Given the description of an element on the screen output the (x, y) to click on. 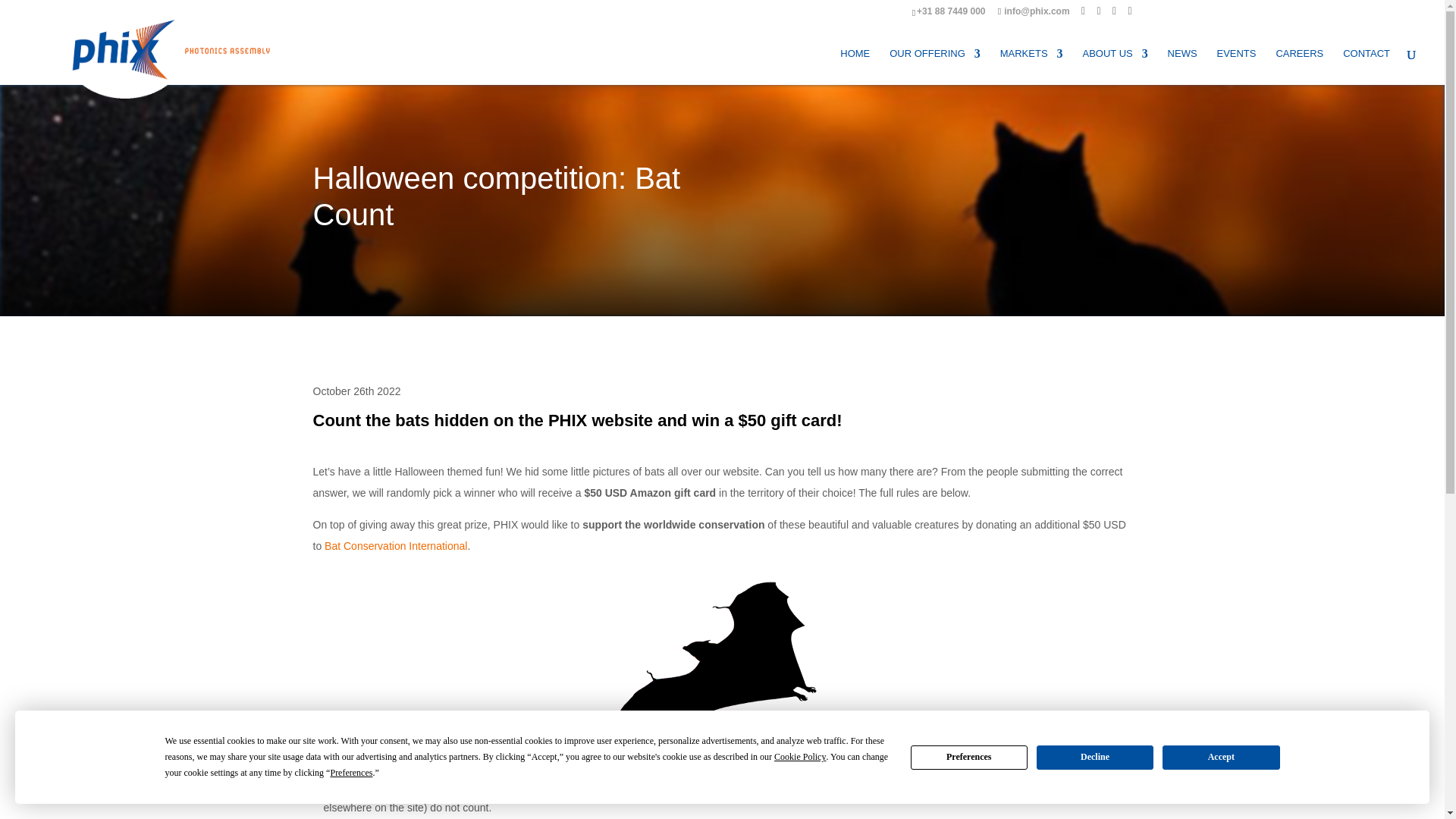
ABOUT US (1114, 66)
Accept (1220, 756)
MARKETS (1031, 66)
OUR OFFERING (934, 66)
Preferences (351, 772)
Decline (1094, 756)
Preferences (969, 756)
Cookie Policy (799, 756)
